Given the description of an element on the screen output the (x, y) to click on. 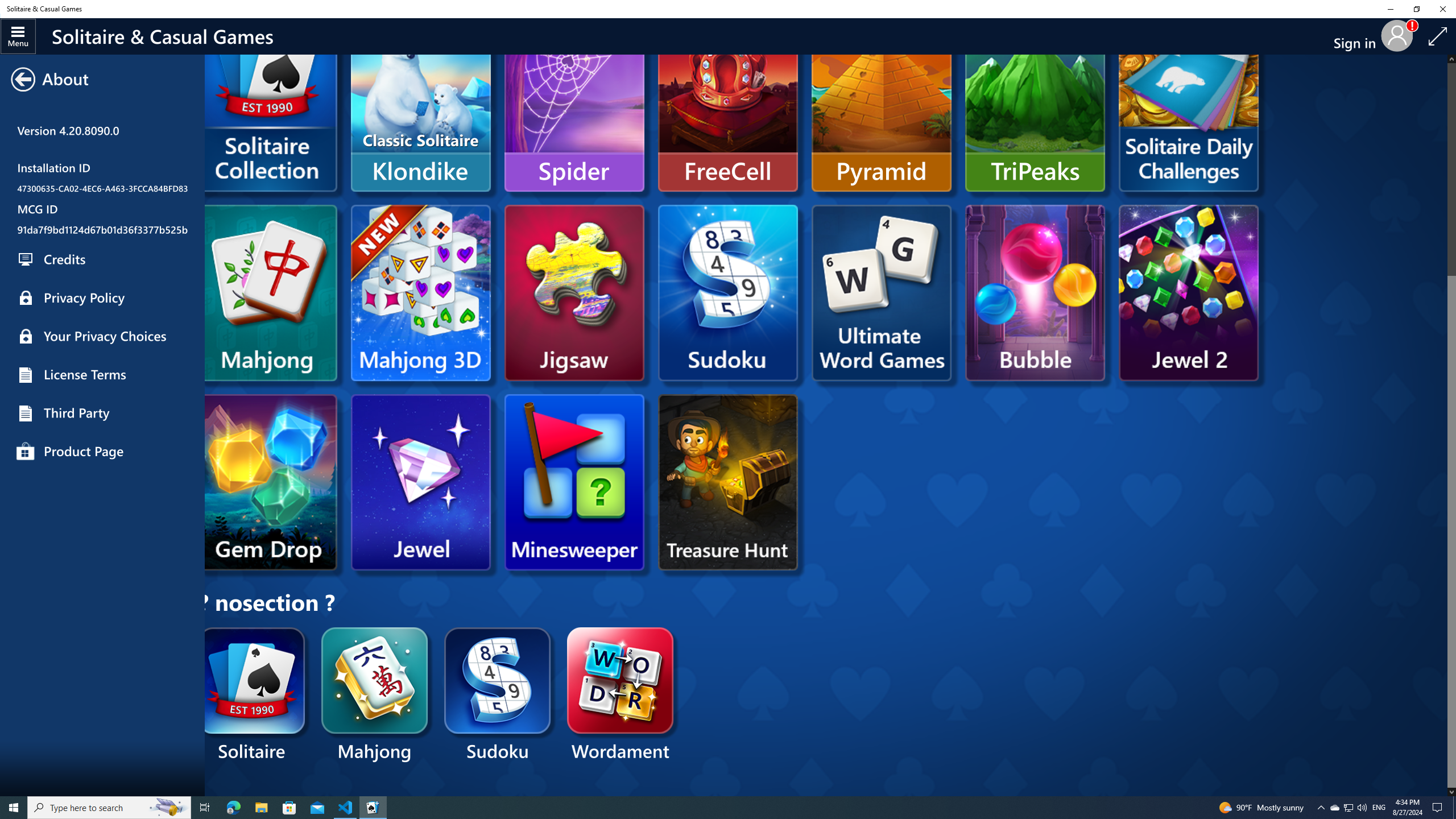
Your Privacy Choices (102, 336)
AutomationID: up_arrow_0 (1451, 58)
Close Solitaire & Casual Games (1442, 9)
Microsoft Edge (233, 807)
Restore Solitaire Purchases (102, 253)
Microsoft Bubble (1035, 292)
Microsoft Jigsaw (574, 292)
Mahjong 3D (420, 292)
Class: Sgi::Gui::Button (22, 79)
Full Screen View (1437, 36)
